Given the description of an element on the screen output the (x, y) to click on. 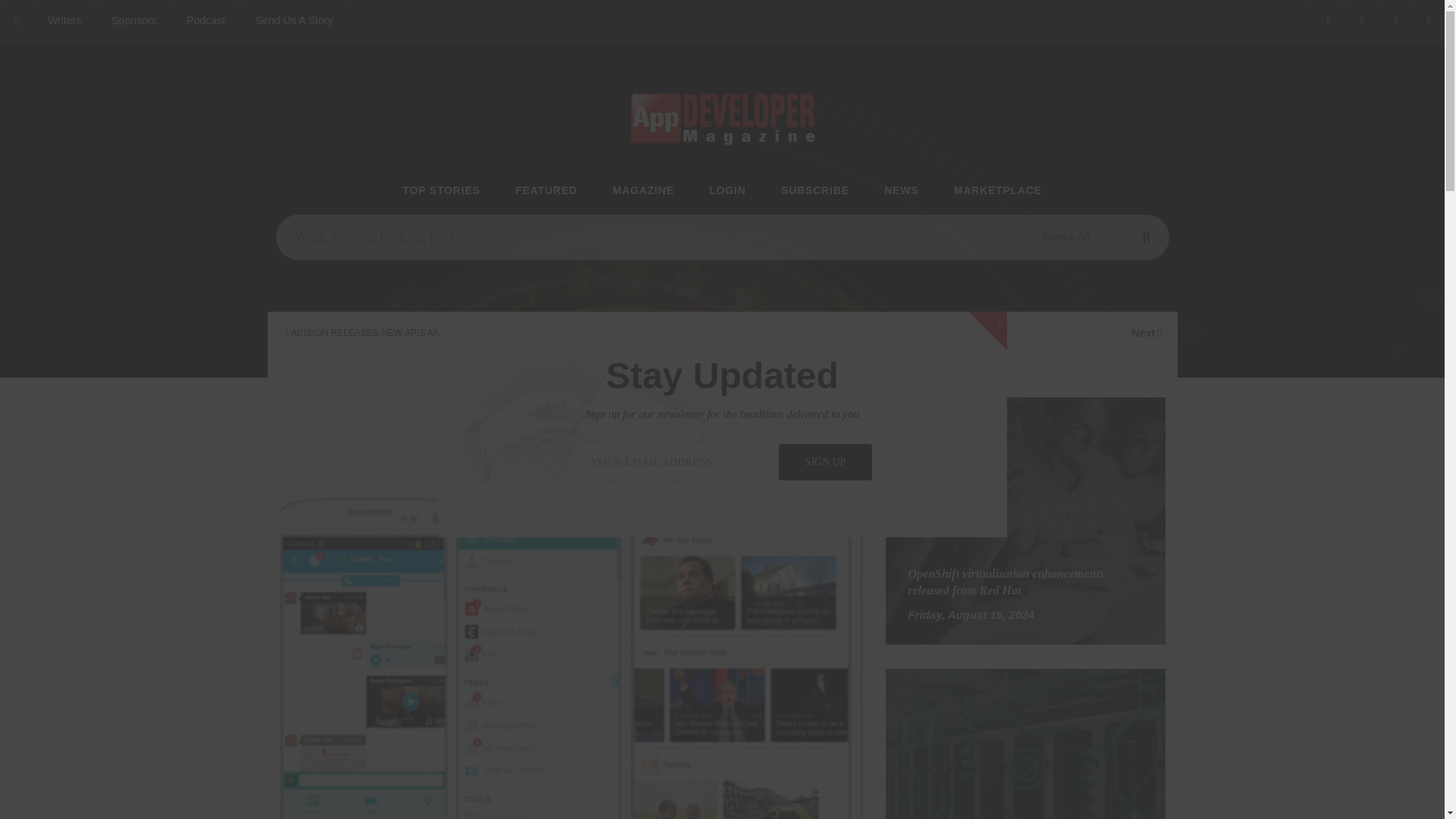
Writers (64, 20)
sign up (825, 461)
FEATURED (546, 190)
Submit App News or Press Release (293, 20)
App Developer Magazine Sponsors (133, 20)
App Developer Magazine (205, 20)
LOGIN (727, 190)
TOP STORIES (441, 190)
MAGAZINE (643, 190)
